Given the description of an element on the screen output the (x, y) to click on. 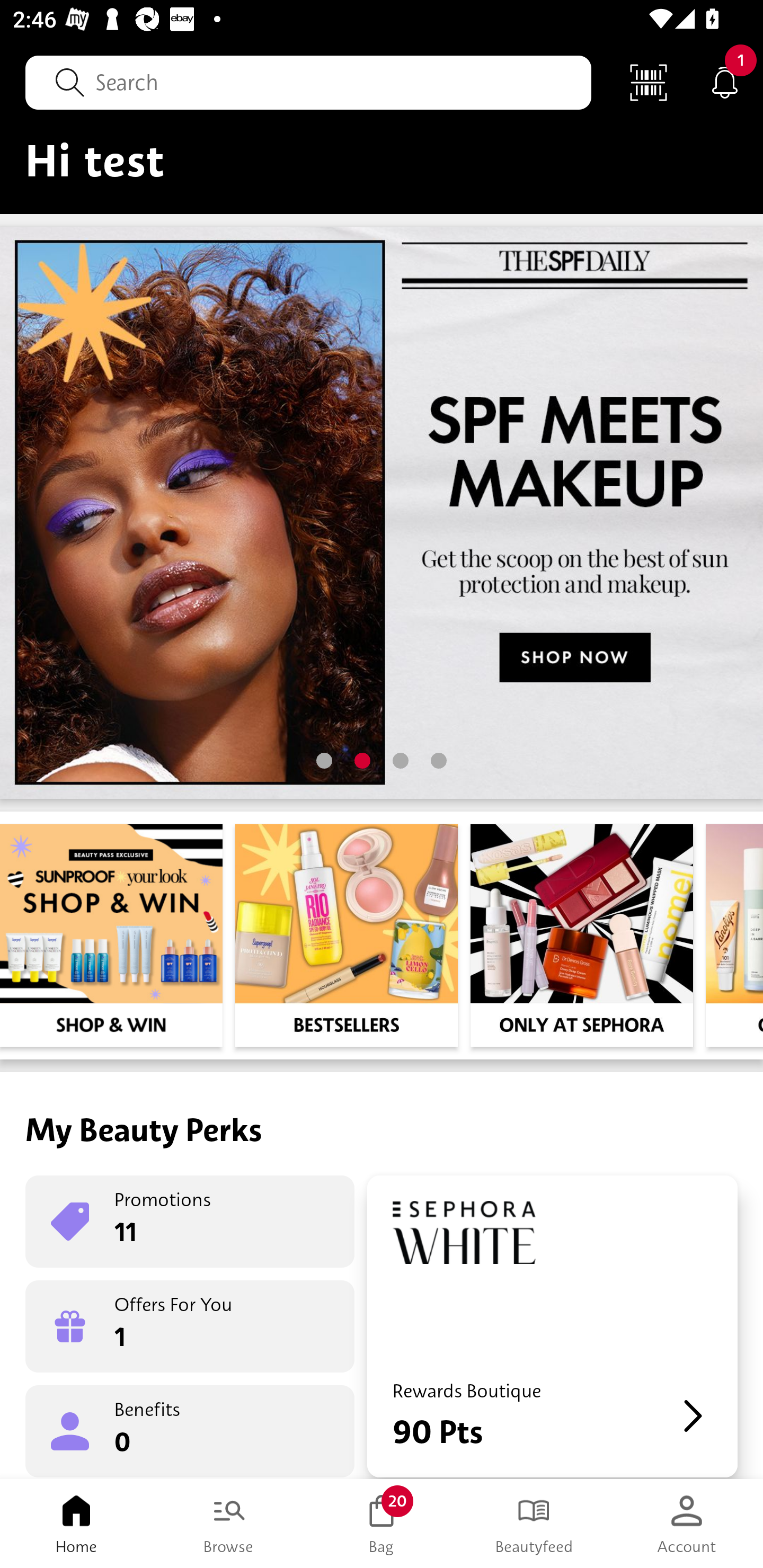
Scan Code (648, 81)
Notifications (724, 81)
Search (308, 81)
Promotions 11 (189, 1221)
Rewards Boutique 90 Pts (552, 1326)
Offers For You 1 (189, 1326)
Benefits 0 (189, 1430)
Browse (228, 1523)
Bag 20 Bag (381, 1523)
Beautyfeed (533, 1523)
Account (686, 1523)
